Given the description of an element on the screen output the (x, y) to click on. 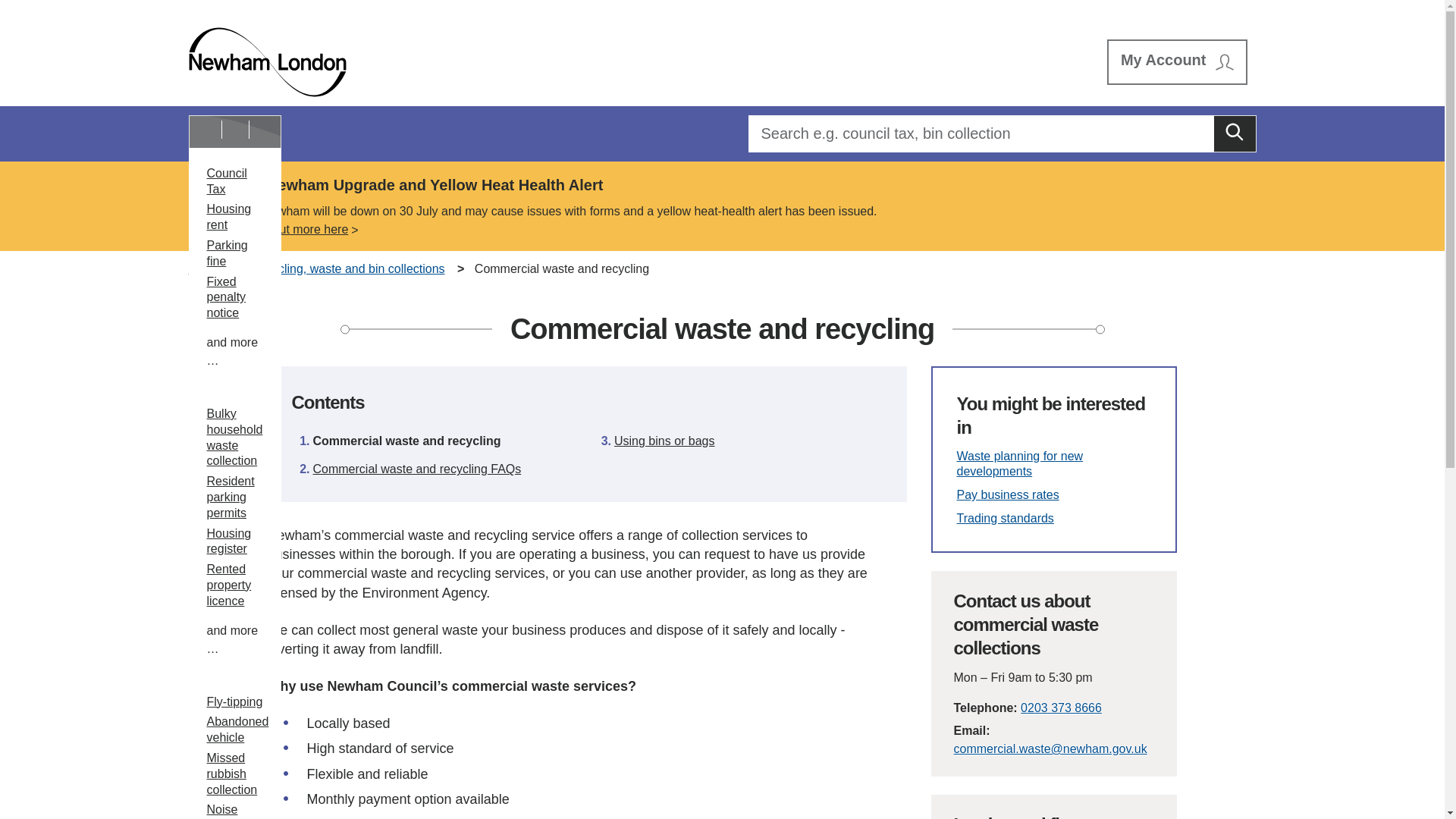
Logo: Visit the Newham Council home page (266, 62)
Newham Council Home Page (266, 62)
My Account (1176, 62)
